Given the description of an element on the screen output the (x, y) to click on. 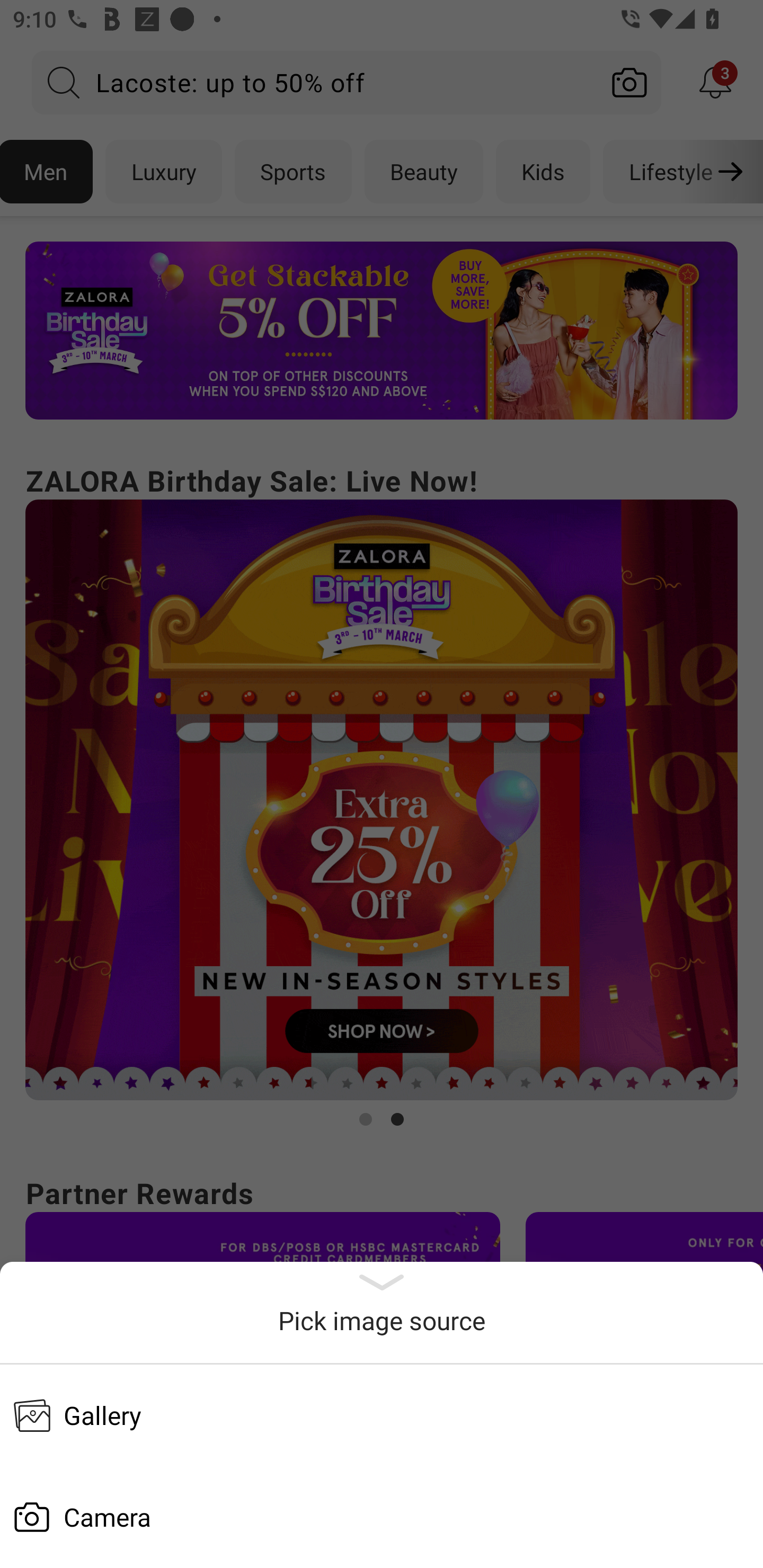
Gallery (381, 1415)
Camera (381, 1517)
